Given the description of an element on the screen output the (x, y) to click on. 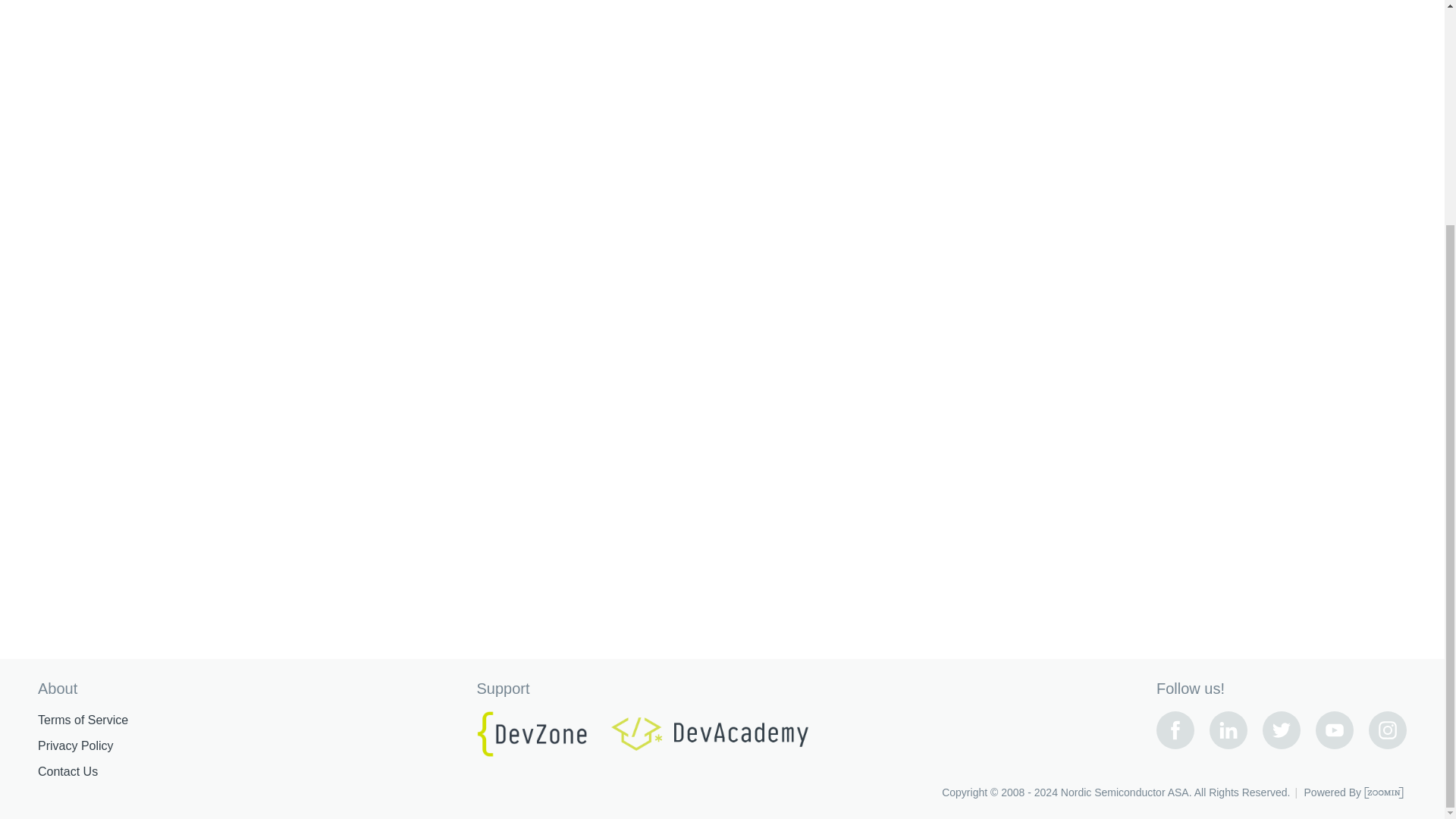
Privacy Policy (75, 746)
Terms of Service (82, 720)
Contact Us (67, 771)
